Given the description of an element on the screen output the (x, y) to click on. 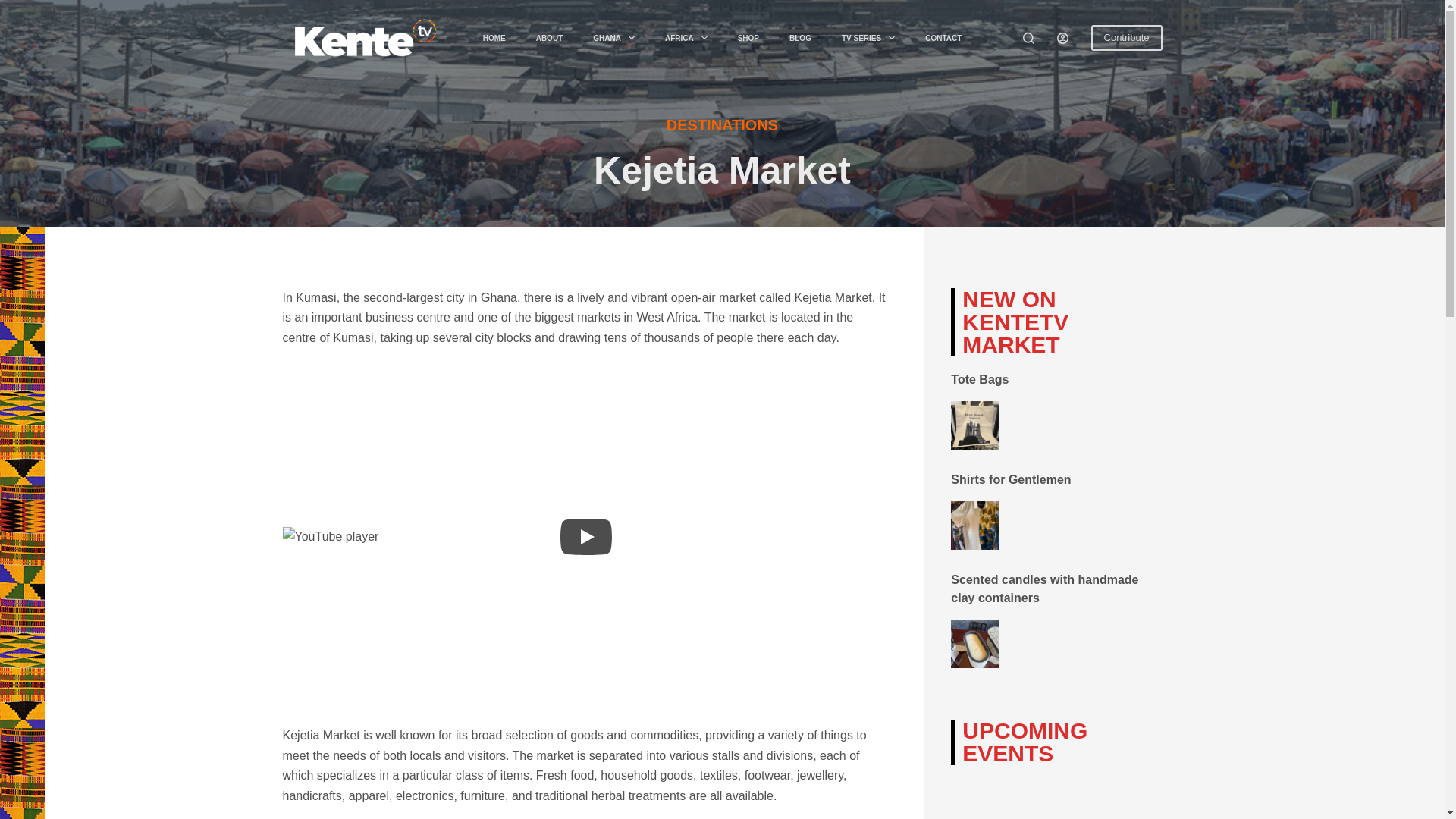
Kejetia Market (722, 170)
Scented candles with handmade clay containers (1044, 588)
Shirts for Gentlemen (1010, 479)
ABOUT (549, 37)
Skip to content (15, 7)
HOME (494, 37)
Tote Bags (979, 379)
